Given the description of an element on the screen output the (x, y) to click on. 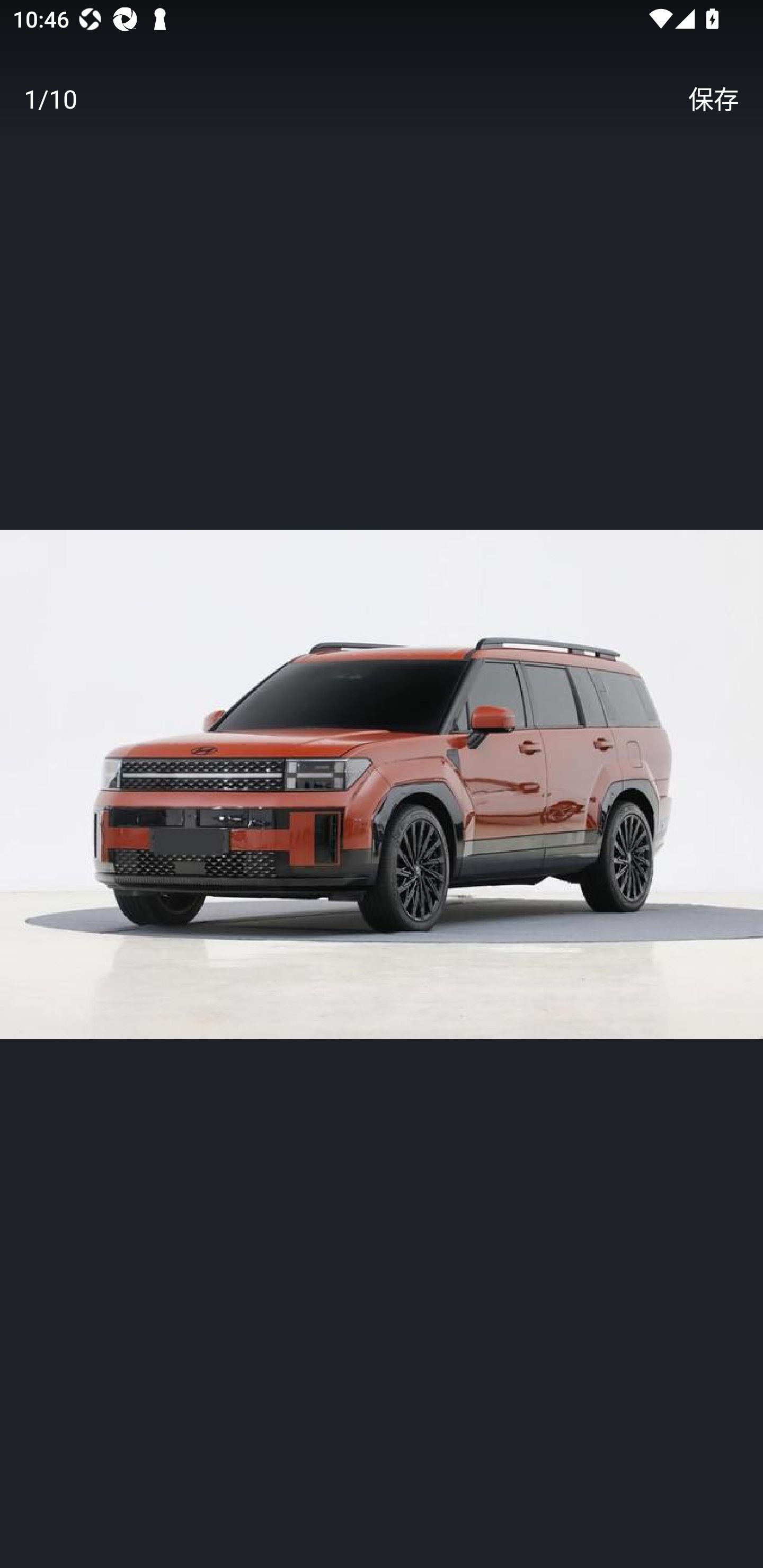
保存 (713, 98)
